Given the description of an element on the screen output the (x, y) to click on. 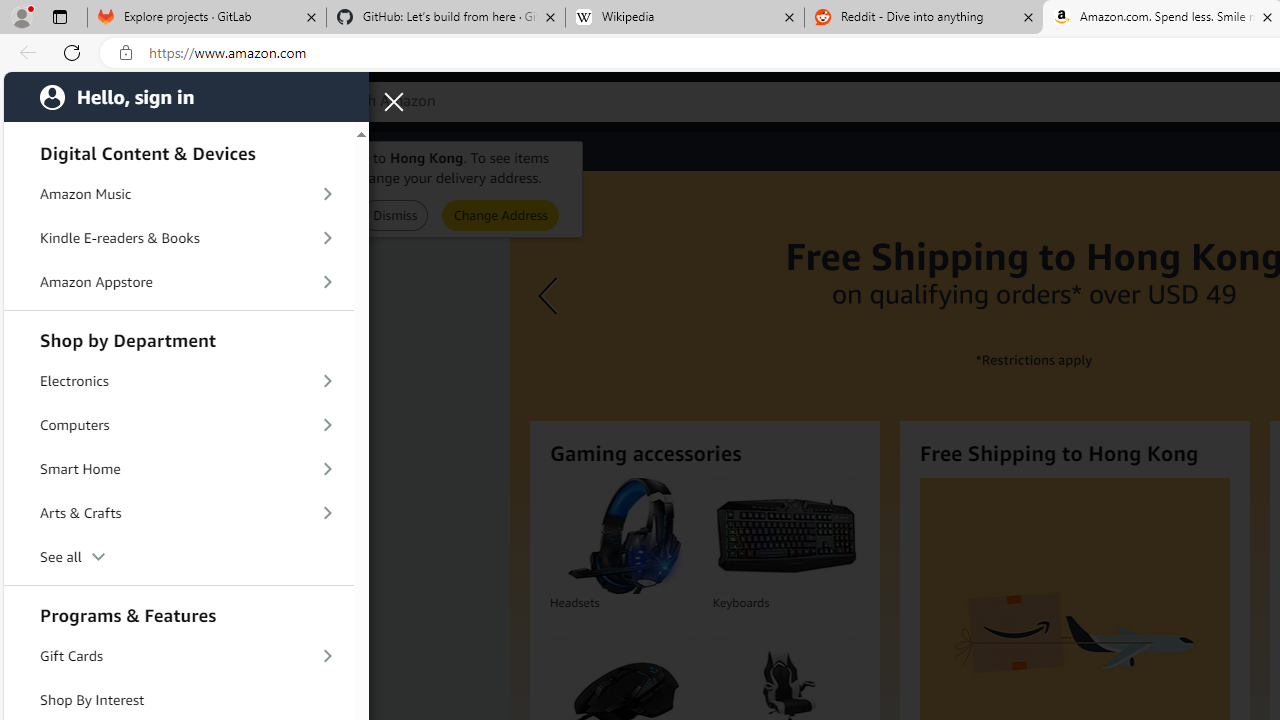
Amazon Appstore (178, 282)
Digital Content & Devices (178, 150)
Arts & Crafts (178, 513)
Amazon Appstore (178, 281)
Programs & Features (178, 613)
Kindle E-readers & Books (178, 237)
Hello, sign in (185, 96)
Computers (178, 425)
Electronics (178, 380)
Amazon Music (178, 193)
